Given the description of an element on the screen output the (x, y) to click on. 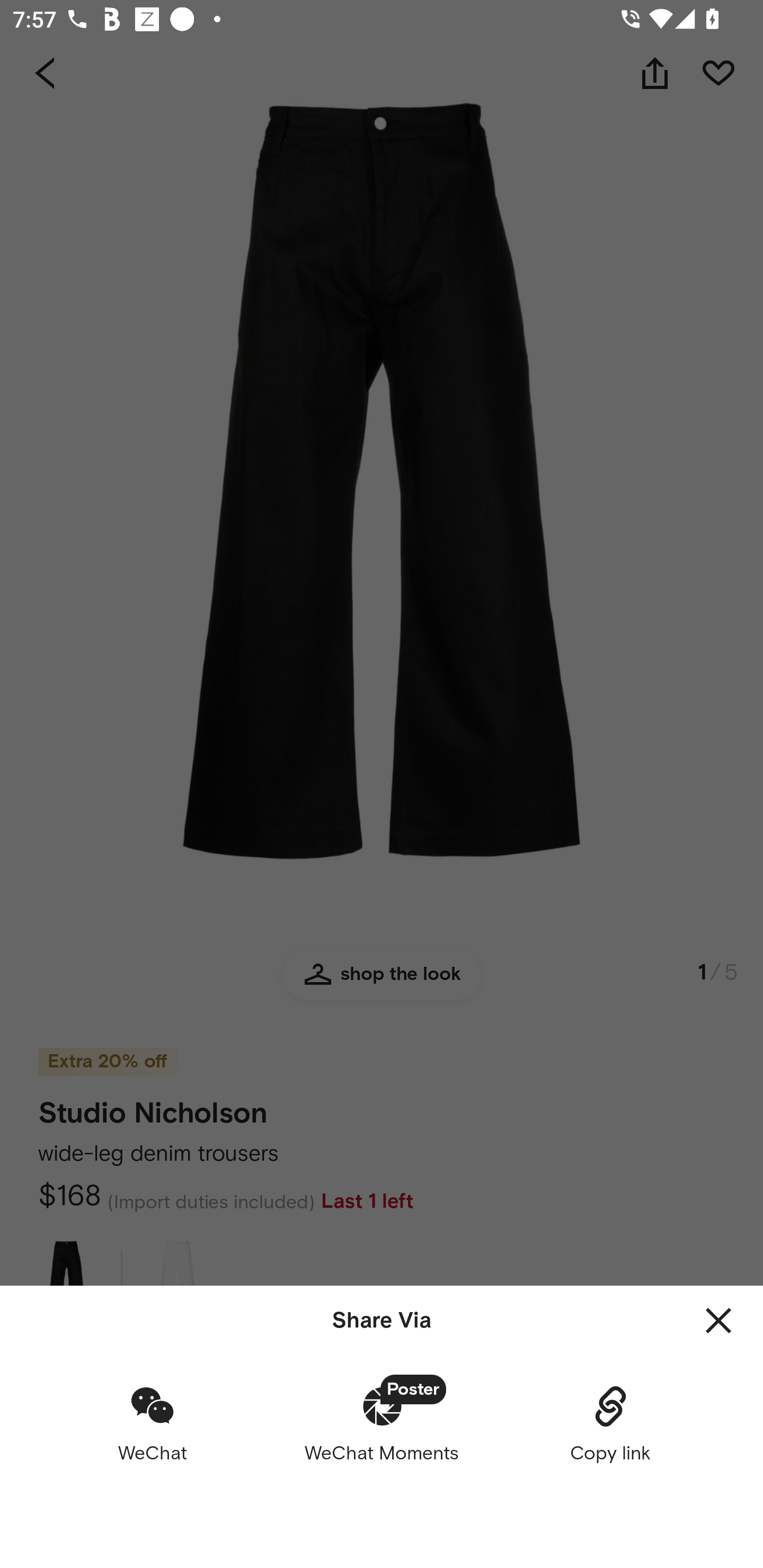
WeChat (152, 1423)
WeChat Moments Poster (381, 1423)
Copy link (609, 1423)
